Given the description of an element on the screen output the (x, y) to click on. 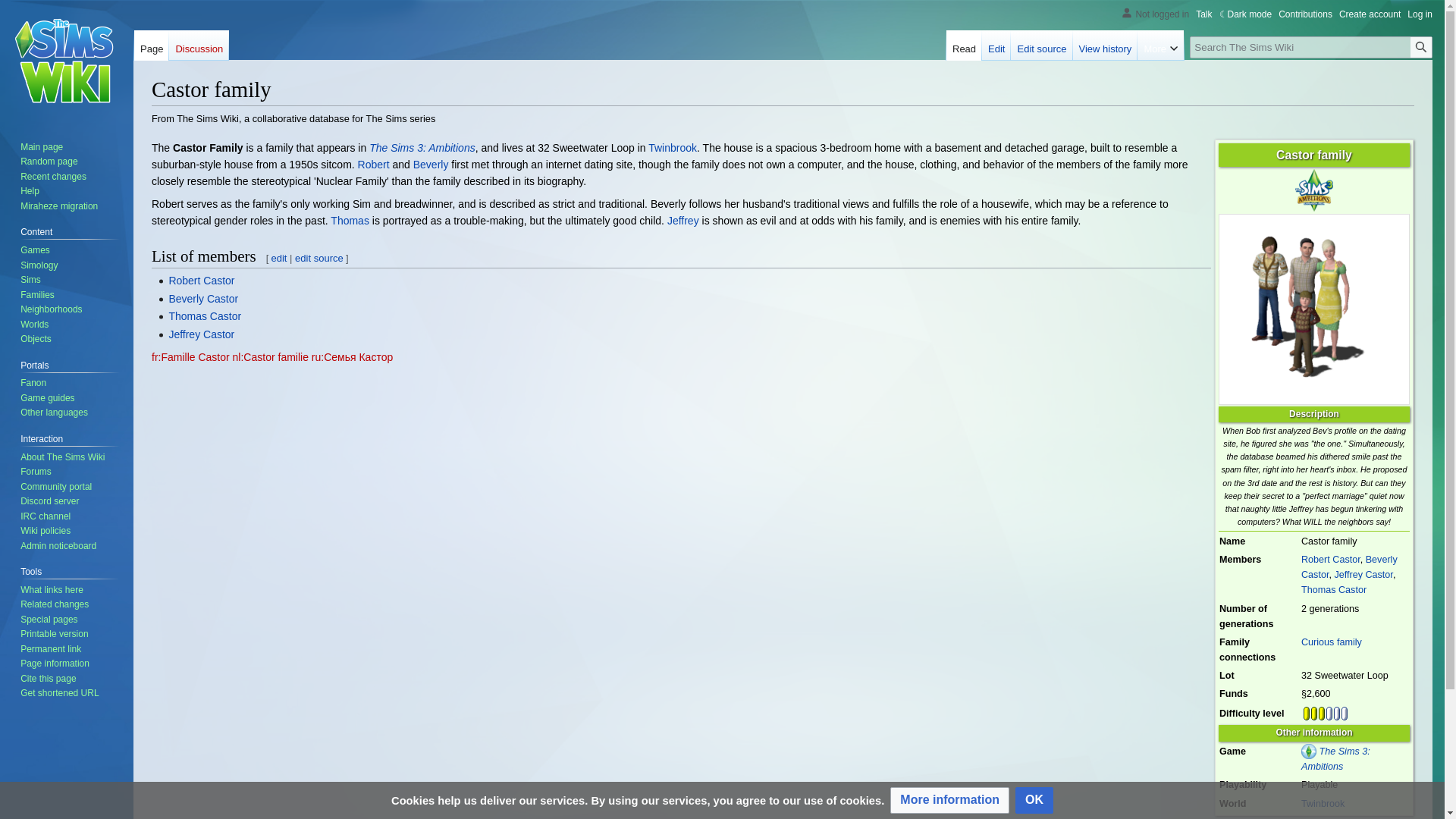
Twinbrook (672, 147)
3 of 6 (1325, 713)
Thomas Castor (1334, 589)
Robert Castor (1330, 559)
More information (949, 800)
Search (1420, 46)
Robert Castor (201, 280)
Twinbrook (672, 147)
Curious family (1331, 642)
Search (1420, 46)
The Sims 3: Ambitions (422, 147)
Jeffrey Castor (682, 220)
Edit section's source code: List of members (319, 257)
Jeffrey Castor (1362, 574)
Dark mode (1246, 14)
